Given the description of an element on the screen output the (x, y) to click on. 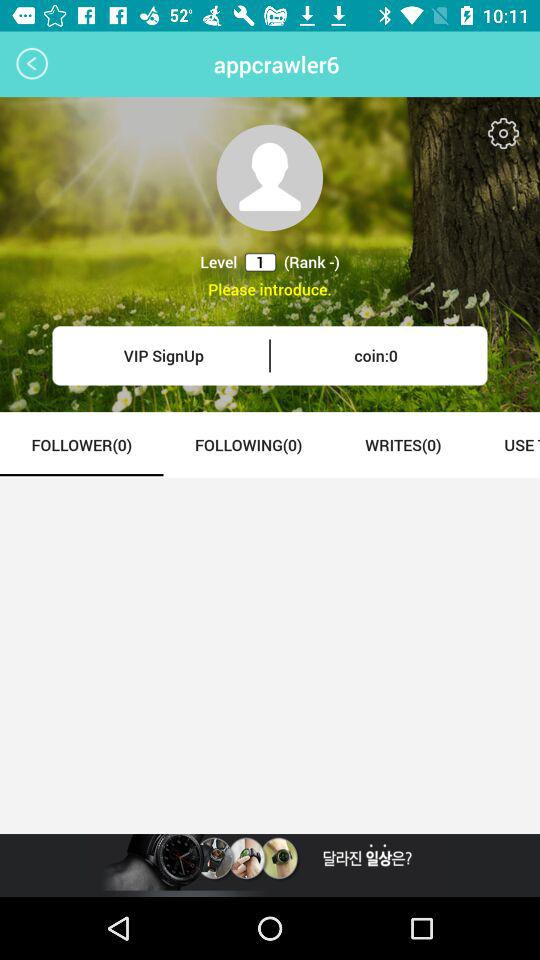
profile (269, 177)
